Given the description of an element on the screen output the (x, y) to click on. 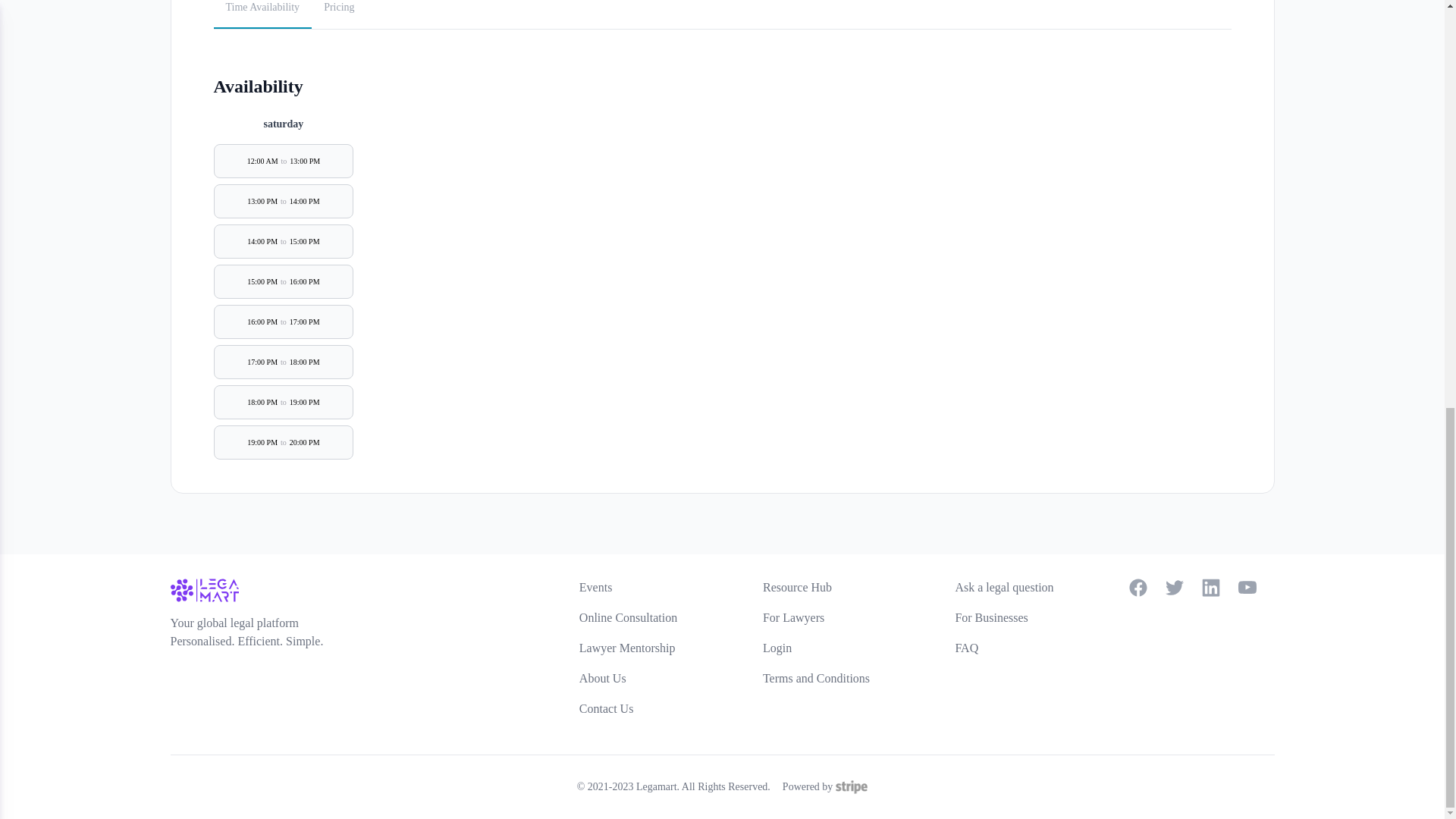
Pricing (338, 14)
Contact Us (606, 707)
Lawyer Mentorship (627, 647)
About Us (602, 677)
Online Consultation (628, 617)
Time Availability (263, 14)
Resource Hub (796, 586)
Events (595, 586)
